Given the description of an element on the screen output the (x, y) to click on. 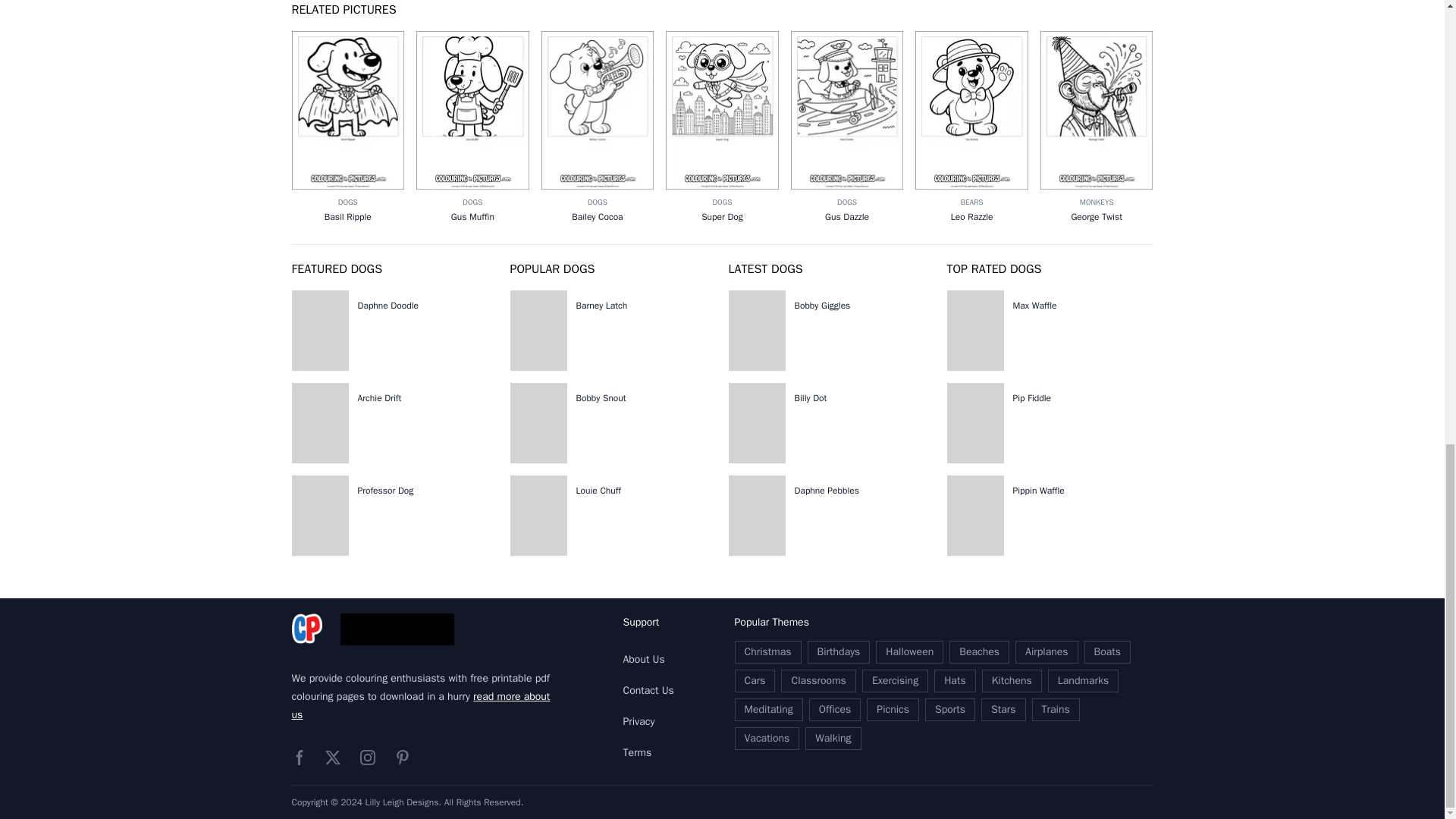
Buy me a coffee (395, 629)
Home (306, 629)
